Given the description of an element on the screen output the (x, y) to click on. 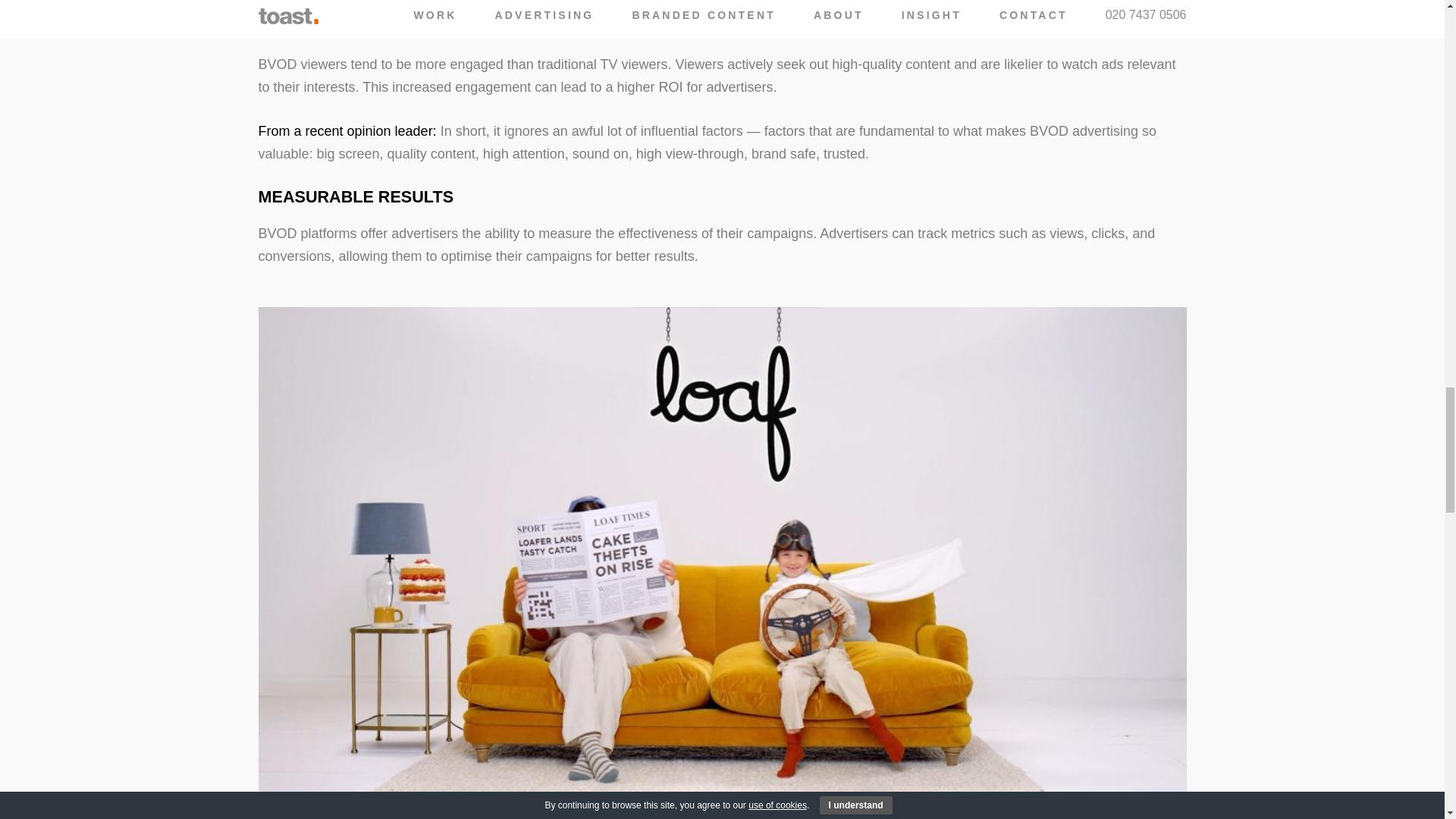
BVOD Effectiveness (346, 130)
